Given the description of an element on the screen output the (x, y) to click on. 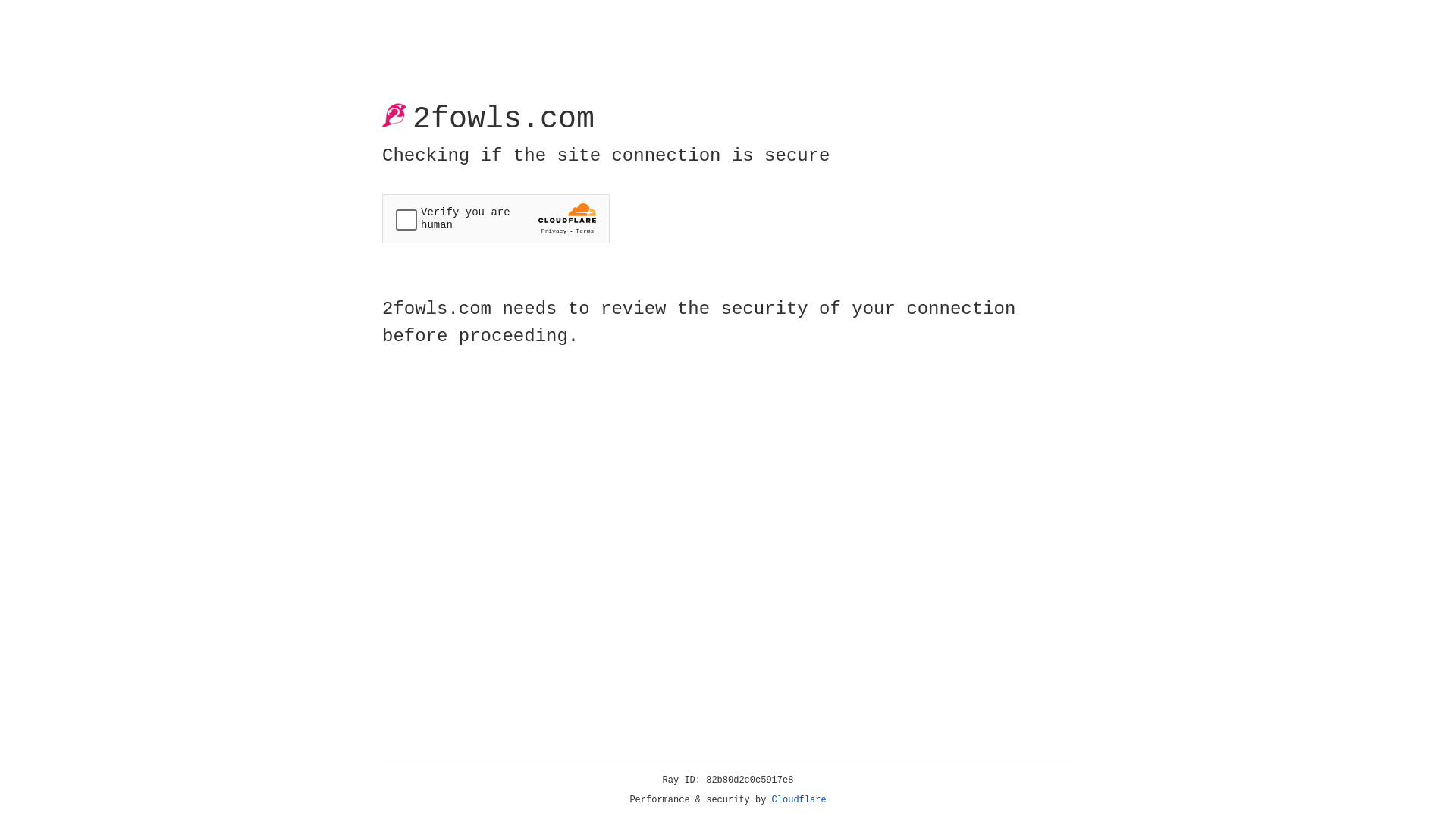
Cloudflare Element type: text (798, 799)
Widget containing a Cloudflare security challenge Element type: hover (495, 218)
